Given the description of an element on the screen output the (x, y) to click on. 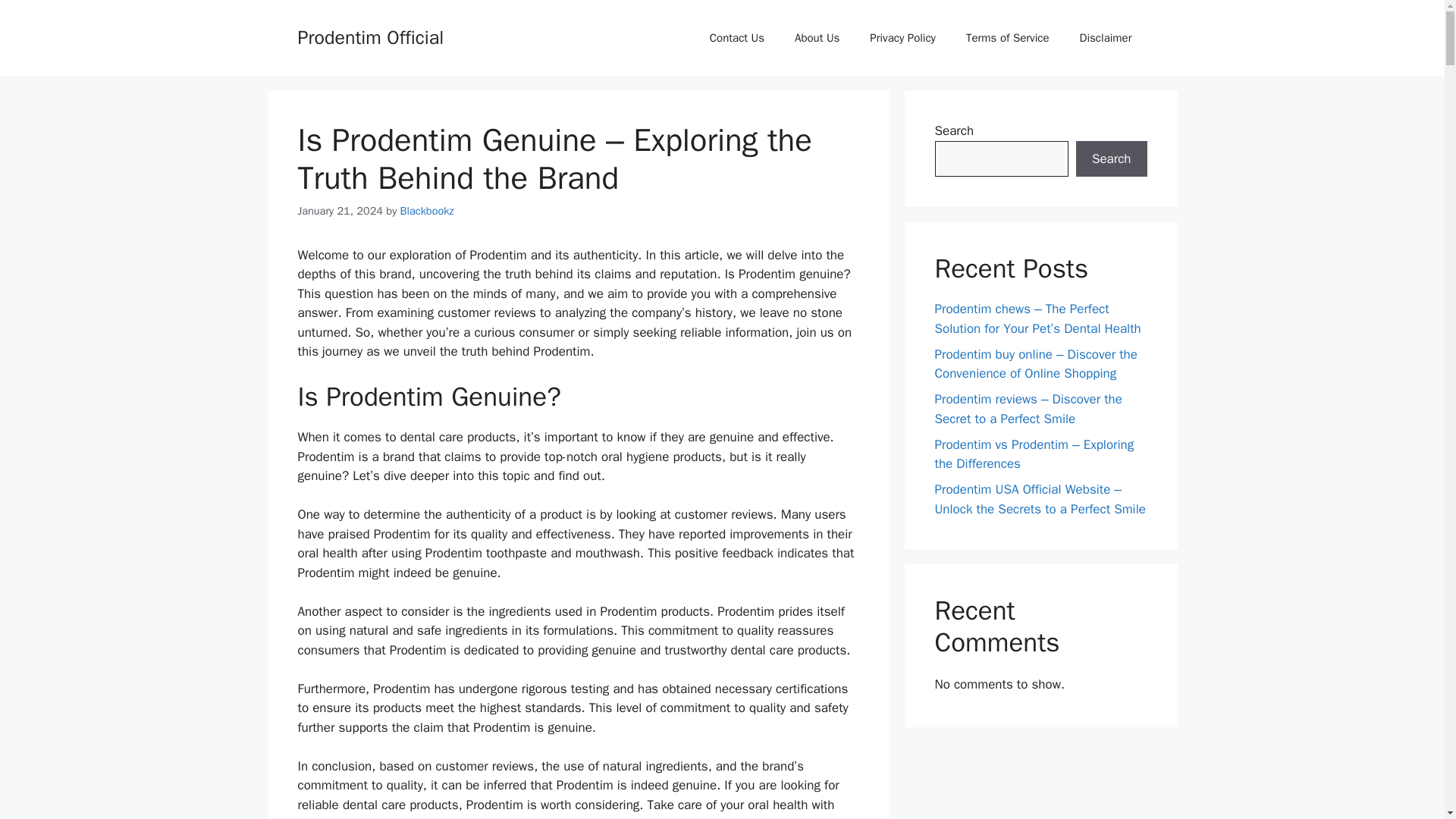
Blackbookz (427, 210)
About Us (816, 37)
Privacy Policy (902, 37)
View all posts by Blackbookz (427, 210)
Terms of Service (1007, 37)
Search (1111, 158)
Prodentim Official (370, 37)
Contact Us (736, 37)
Disclaimer (1105, 37)
